Given the description of an element on the screen output the (x, y) to click on. 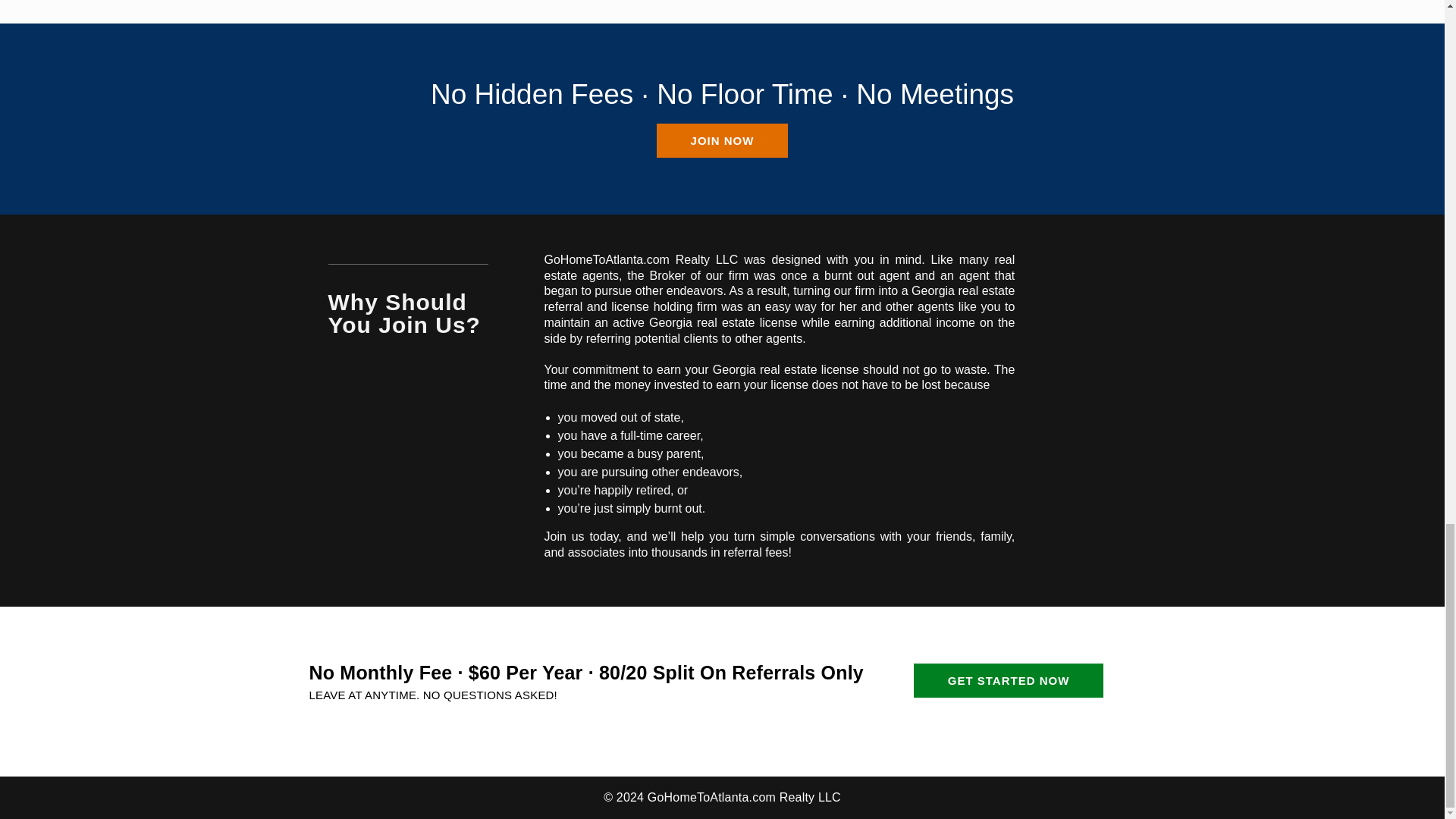
GET STARTED NOW (1008, 680)
JOIN NOW (722, 140)
